Given the description of an element on the screen output the (x, y) to click on. 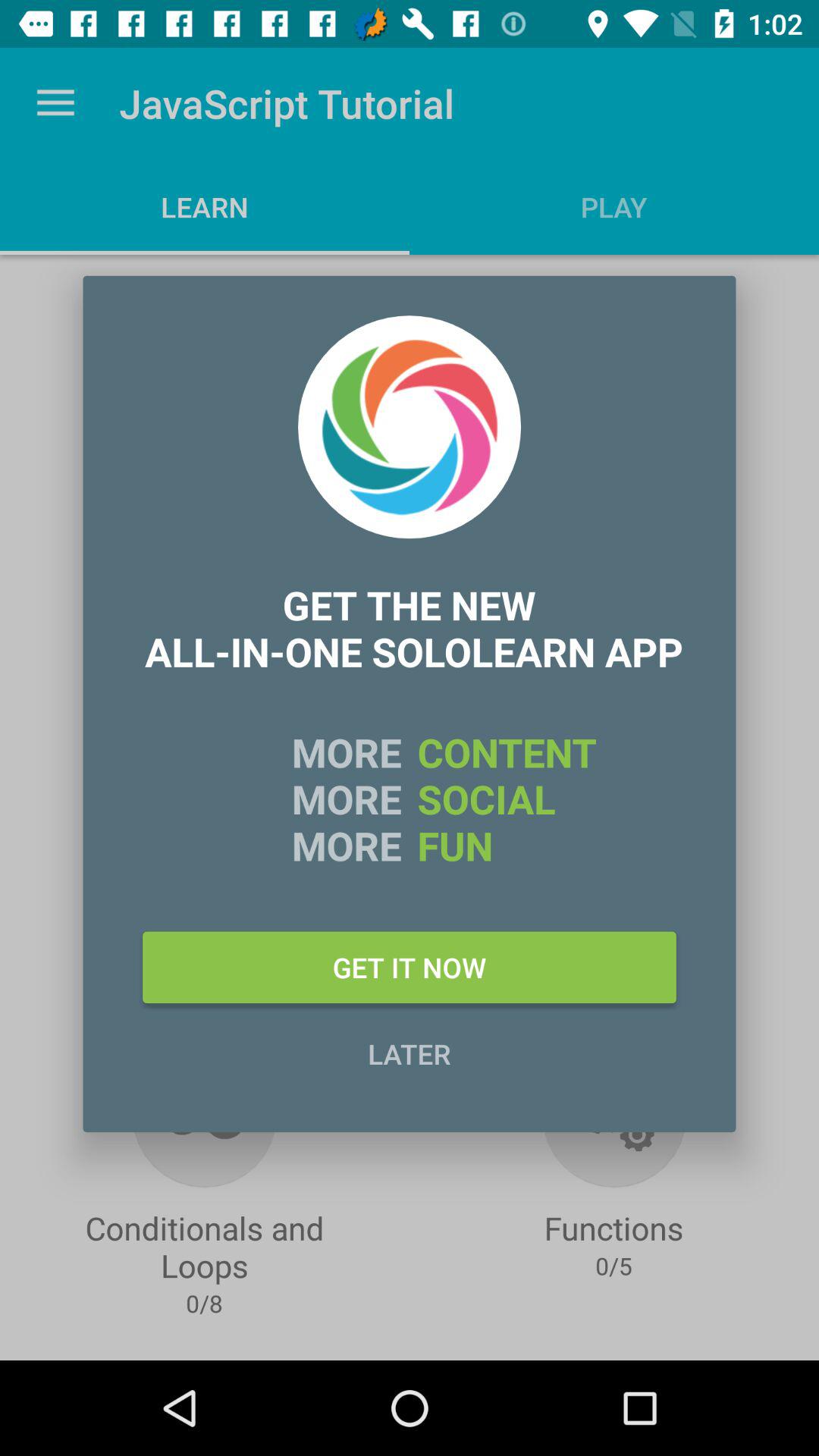
launch the icon below the more
more
more item (409, 967)
